Given the description of an element on the screen output the (x, y) to click on. 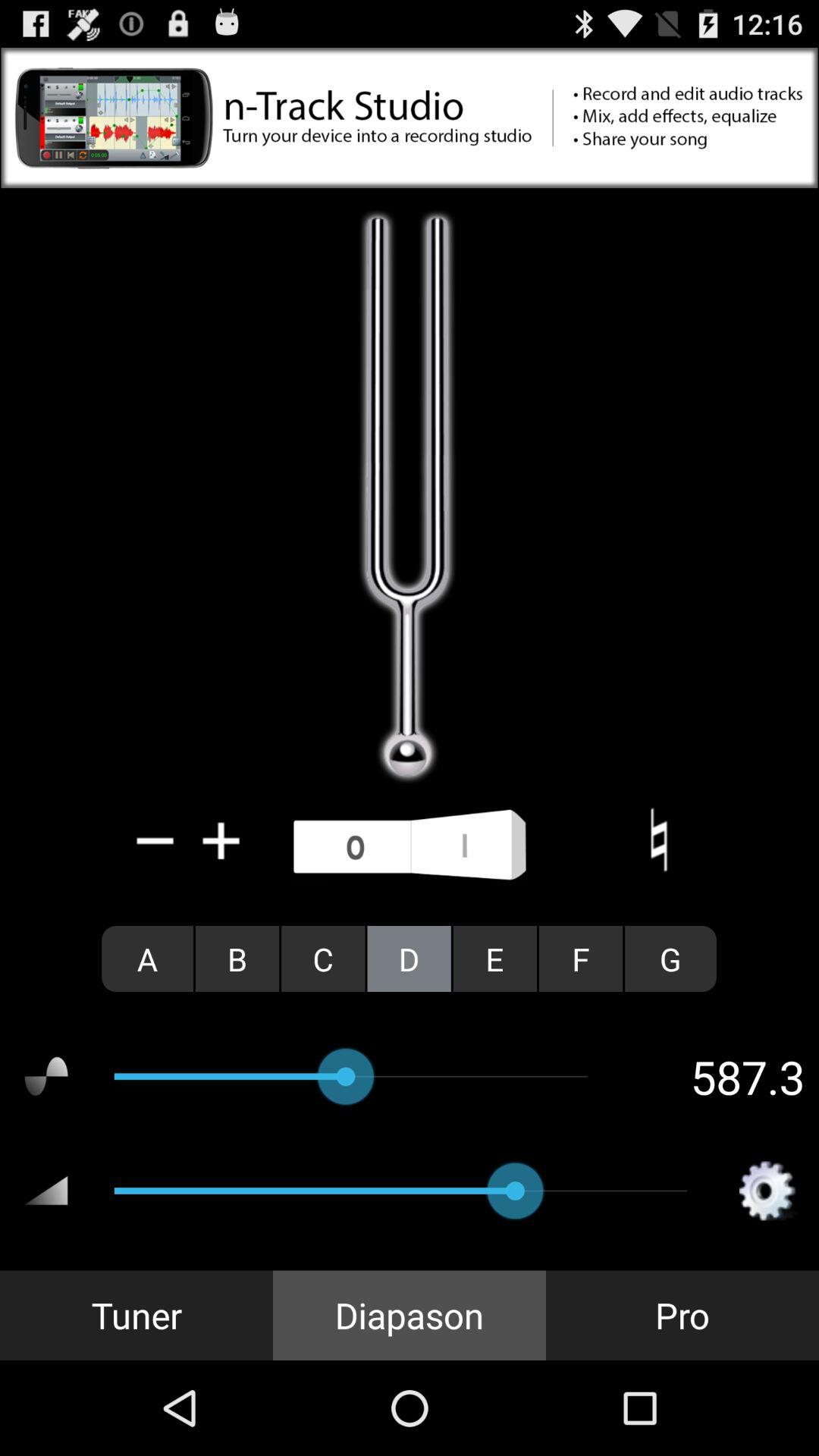
increase (221, 840)
